Given the description of an element on the screen output the (x, y) to click on. 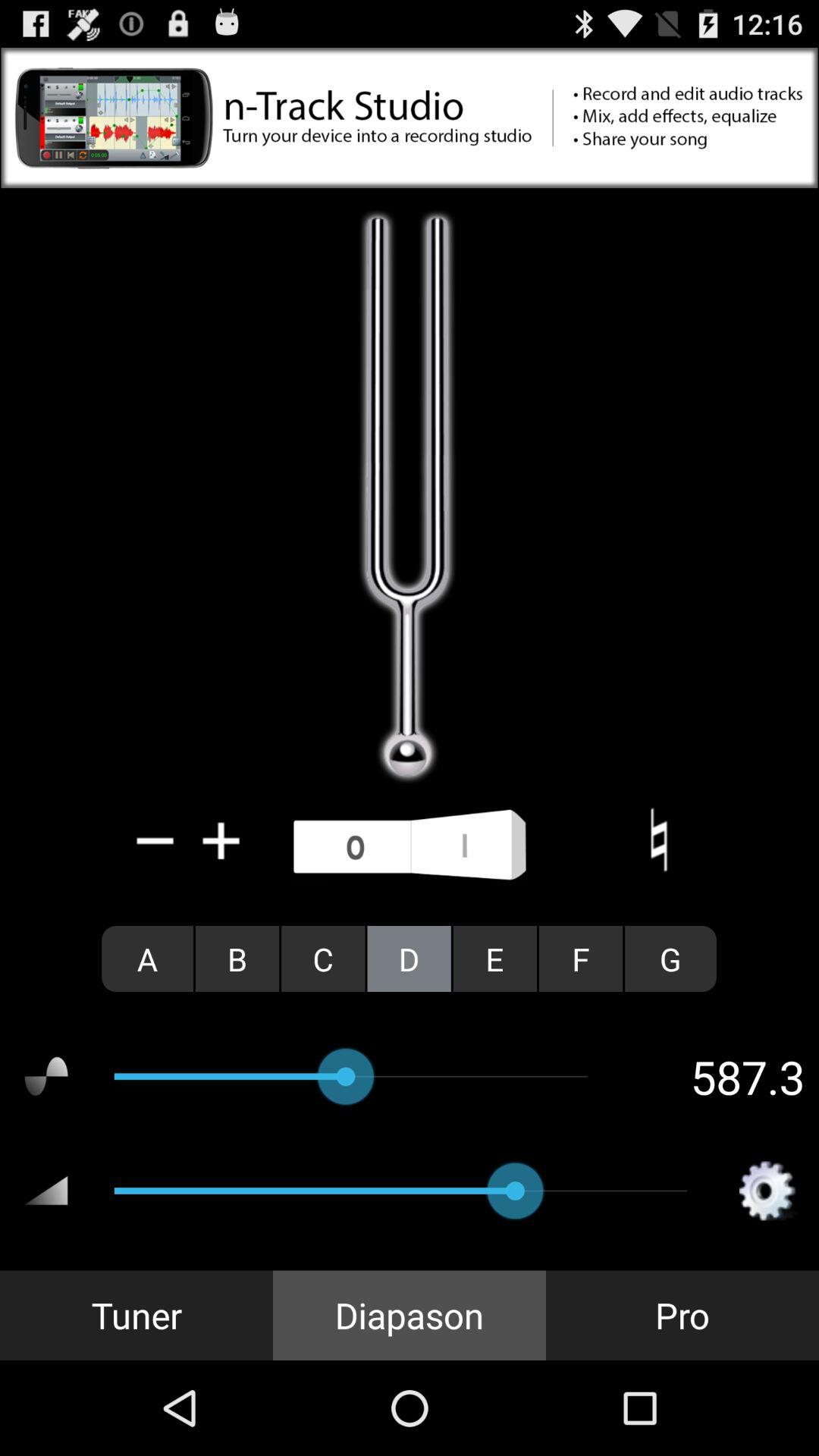
increase (221, 840)
